Given the description of an element on the screen output the (x, y) to click on. 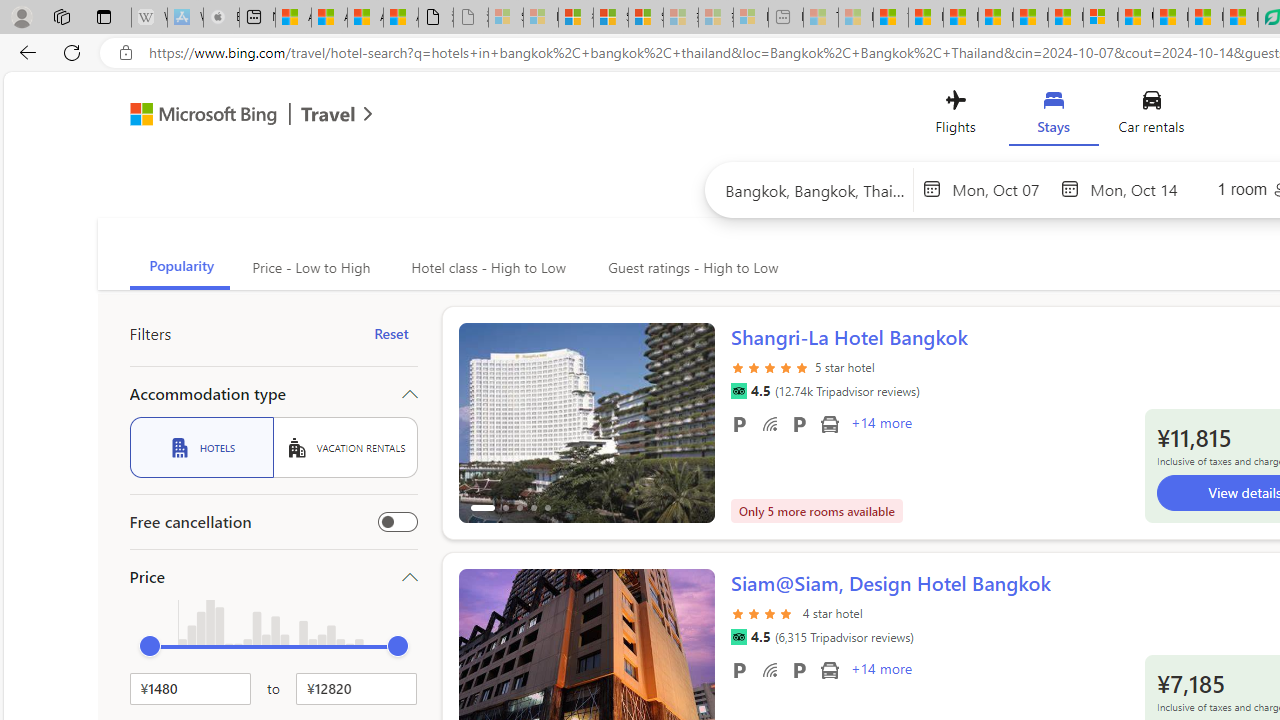
Valet parking (798, 669)
Popularity (179, 268)
Class: msft-travel-logo (328, 114)
Free WiFi (769, 669)
Sign in to your Microsoft account - Sleeping (506, 17)
End date (1139, 188)
US Heat Deaths Soared To Record High Last Year (1135, 17)
Buy iPad - Apple - Sleeping (221, 17)
HOTELS (201, 447)
